Given the description of an element on the screen output the (x, y) to click on. 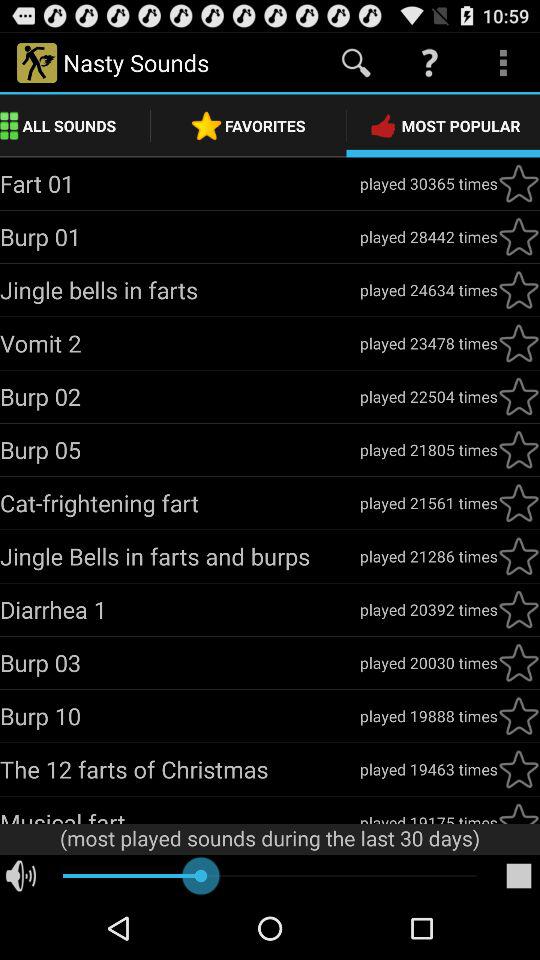
this option select favorite option (519, 237)
